Given the description of an element on the screen output the (x, y) to click on. 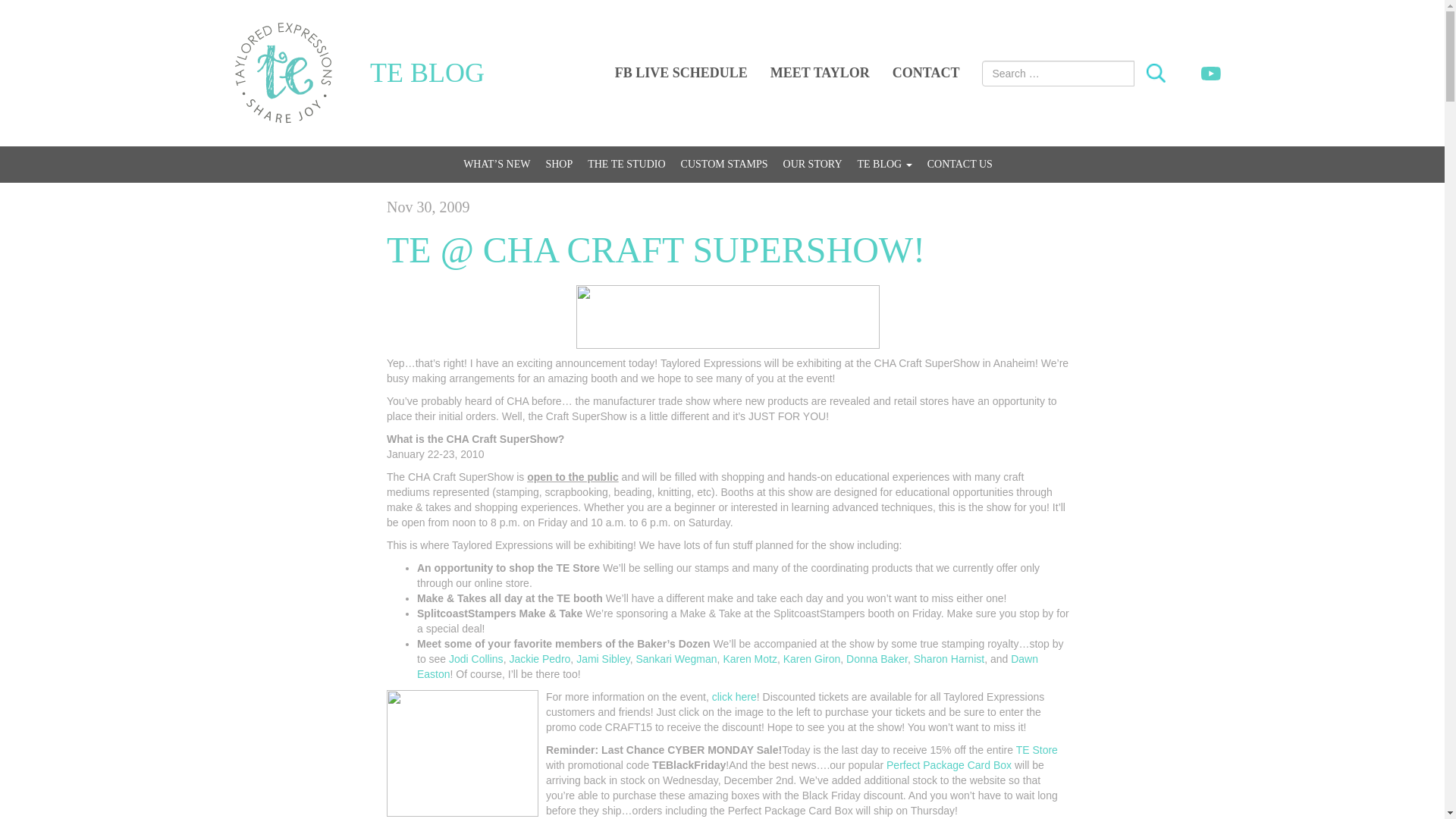
Our Story (813, 164)
Dawn Easton (727, 666)
MEET TAYLOR (819, 72)
CONTACT (925, 72)
Go (1155, 73)
THE TE STUDIO (625, 164)
Custom Stamps (724, 164)
Jami Sibley (603, 658)
TE BLOG (426, 73)
What's New (496, 164)
